Given the description of an element on the screen output the (x, y) to click on. 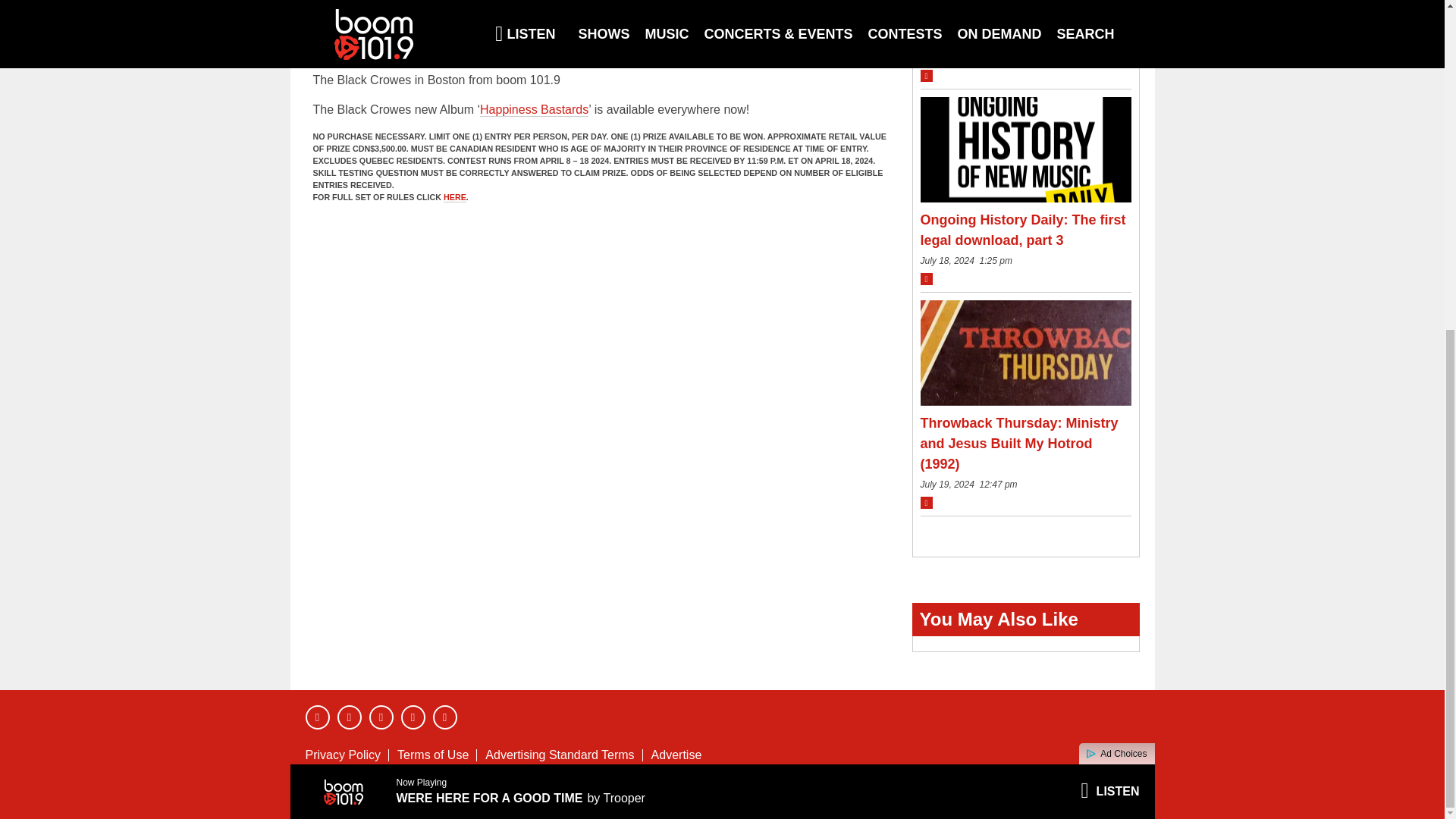
Happiness Bastards (534, 110)
Listen live (1109, 245)
HERE (454, 197)
Corus (1088, 792)
